Given the description of an element on the screen output the (x, y) to click on. 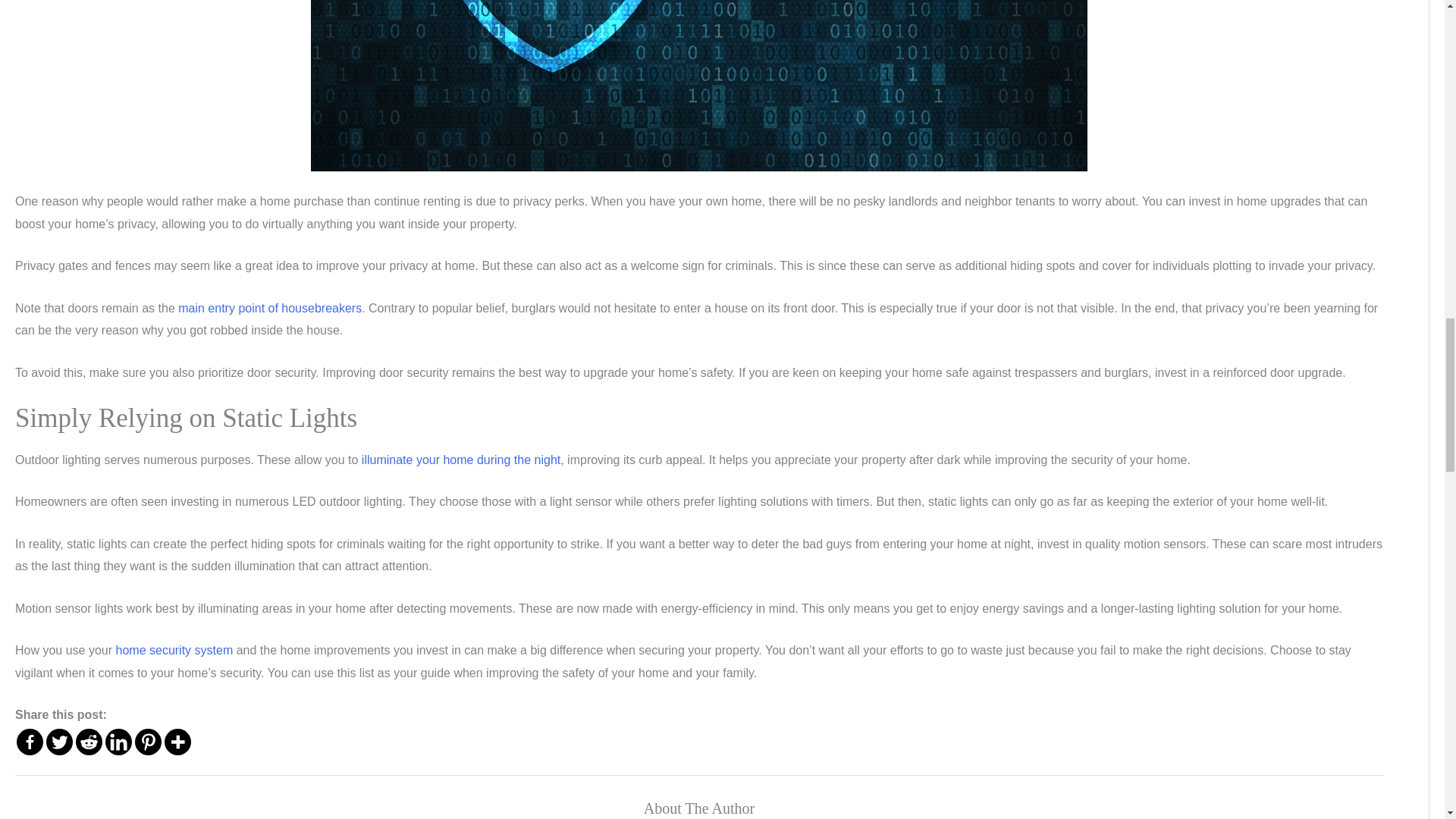
Pinterest (148, 741)
More (177, 741)
illuminate your home during the night (460, 459)
Linkedin (118, 741)
main entry point of housebreakers (269, 308)
Twitter (59, 741)
home security system (174, 649)
Reddit (88, 741)
Facebook (29, 741)
